Given the description of an element on the screen output the (x, y) to click on. 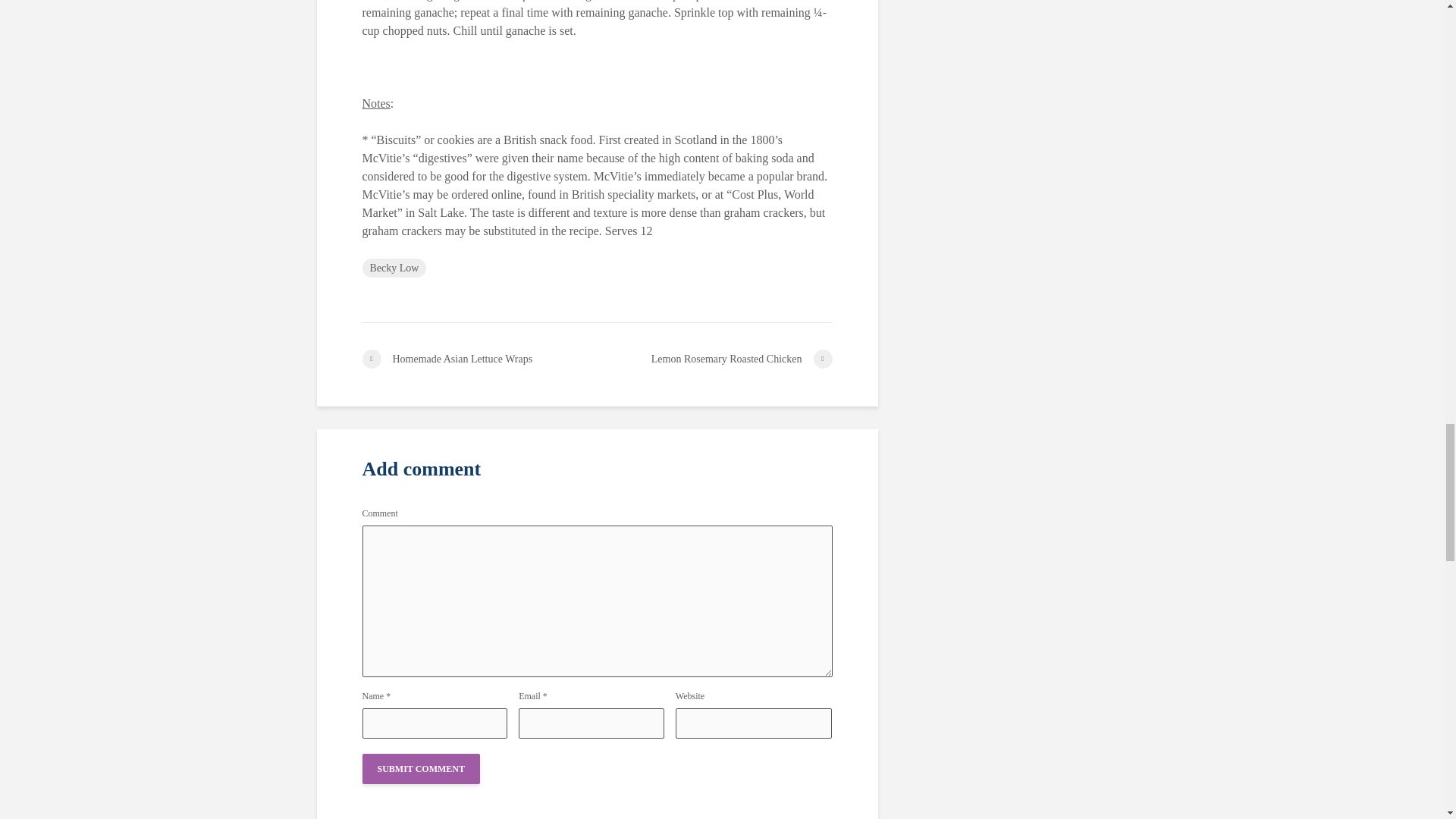
Lemon Rosemary Roasted Chicken (714, 358)
Submit Comment (421, 768)
Becky Low (394, 267)
Homemade Asian Lettuce Wraps (479, 358)
Submit Comment (421, 768)
